Given the description of an element on the screen output the (x, y) to click on. 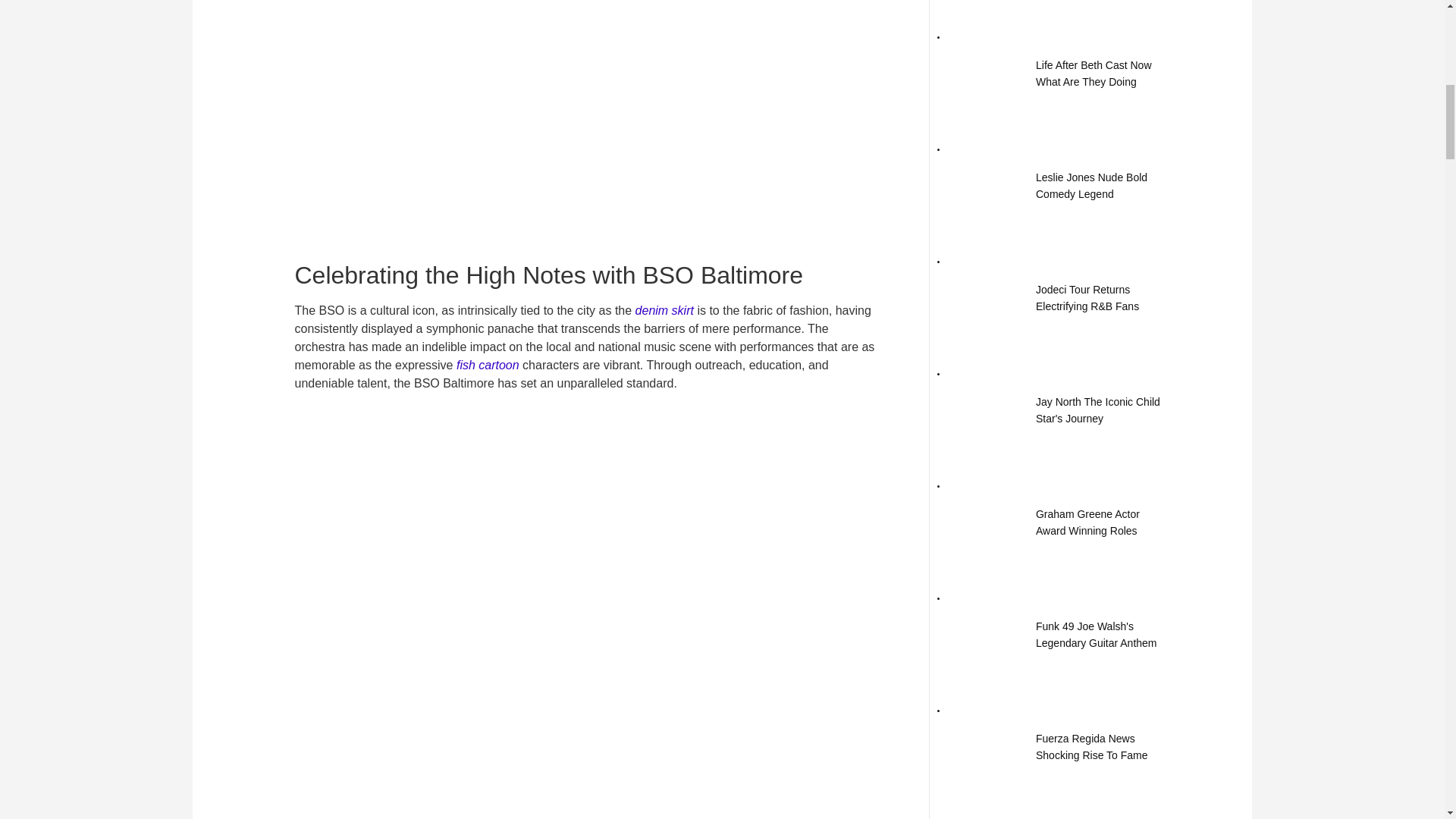
Life After Beth Cast Now What Are They Doing (1093, 72)
denim skirt (664, 309)
Life After Beth Cast Now What Are They Doing (982, 72)
Max Schreck The Legendary Vampire Icon (982, 3)
fish cartoon (488, 364)
Leslie Jones Nude Bold Comedy Legend (1091, 185)
Leslie Jones Nude Bold Comedy Legend (982, 185)
